Given the description of an element on the screen output the (x, y) to click on. 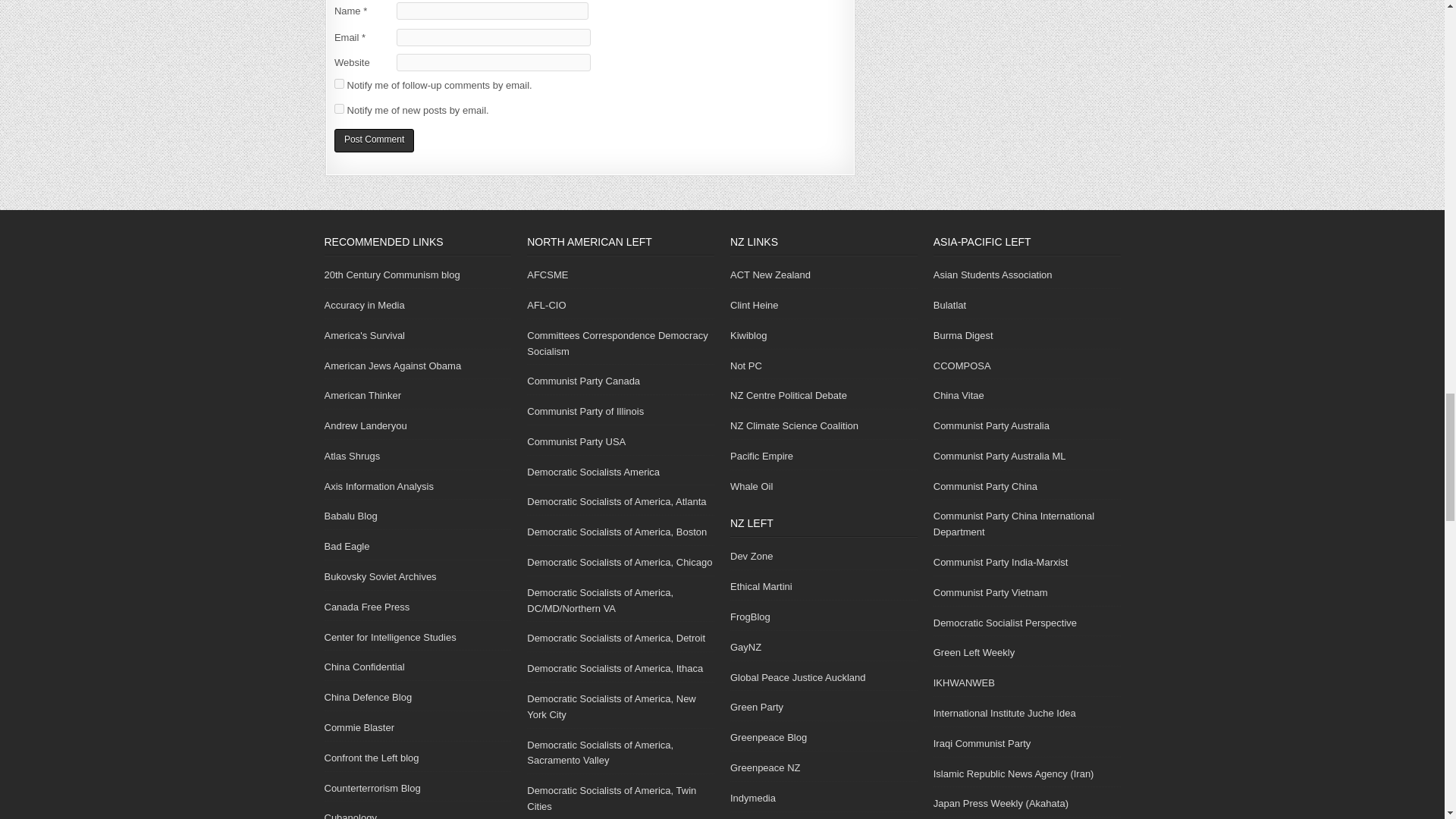
subscribe (338, 83)
Post Comment (373, 140)
subscribe (338, 108)
